Given the description of an element on the screen output the (x, y) to click on. 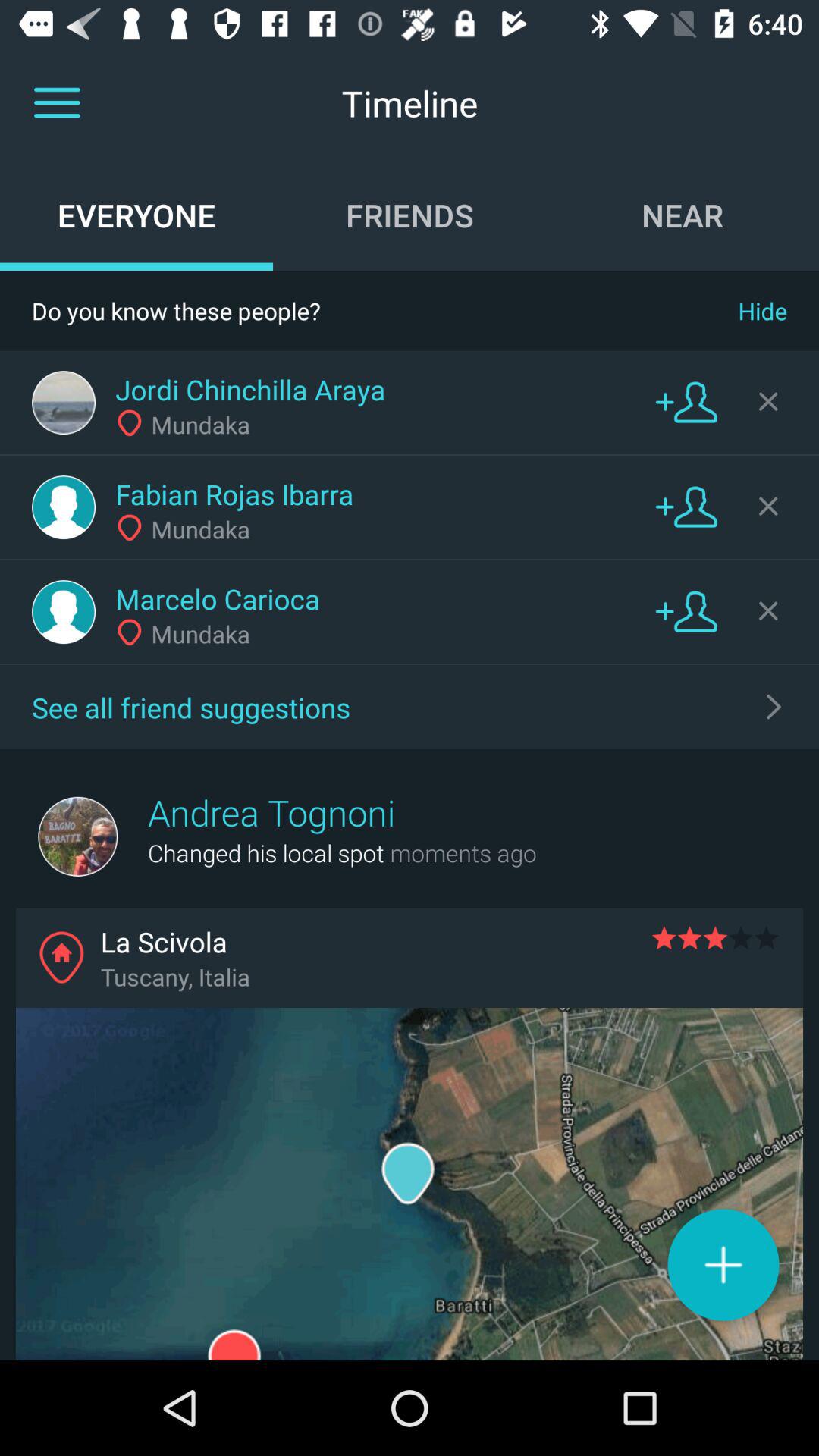
zoom botton (723, 1264)
